Given the description of an element on the screen output the (x, y) to click on. 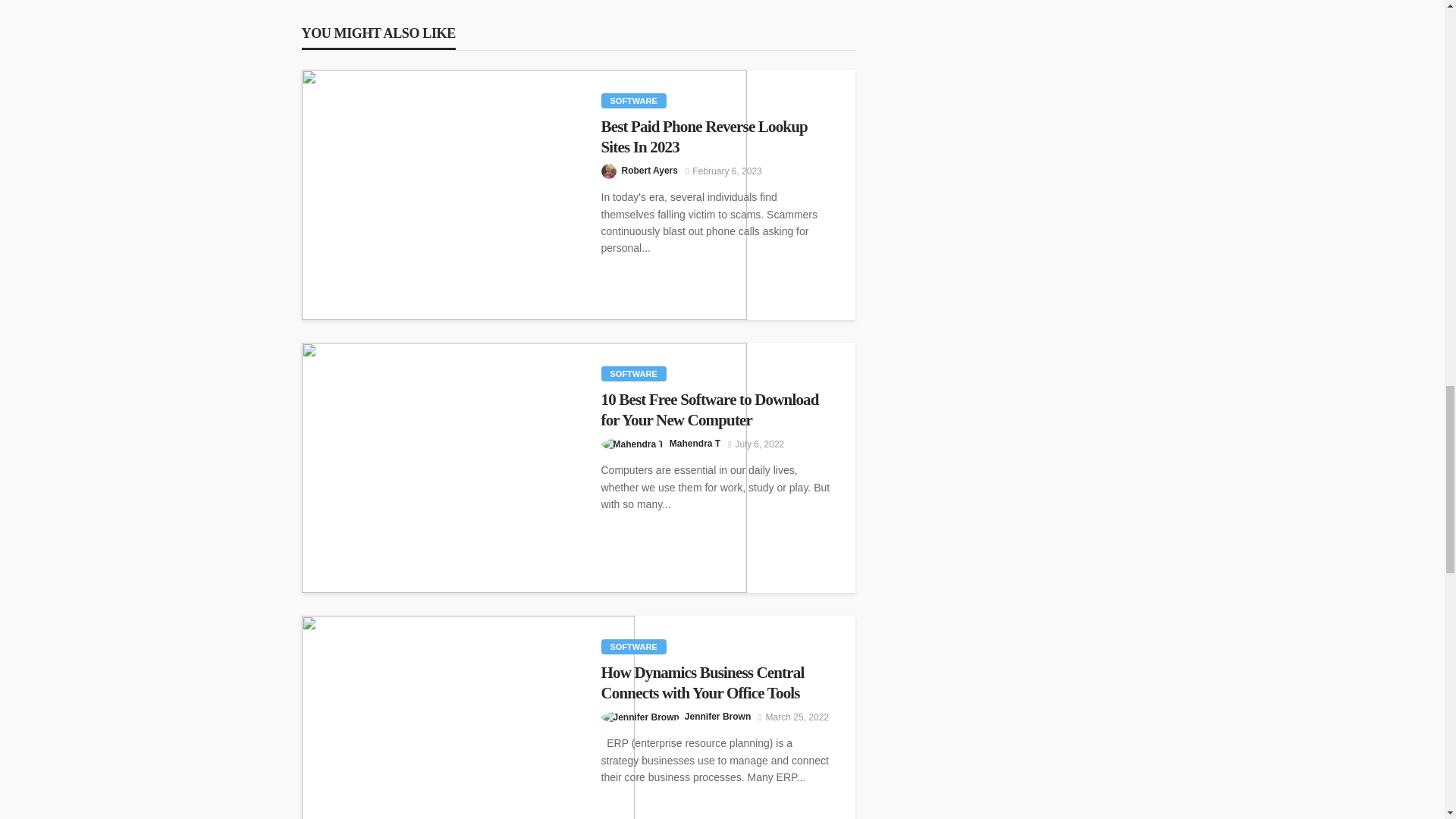
Best Paid Phone Reverse Lookup Sites In 2023 (524, 194)
Software (632, 100)
Software (632, 646)
Software (632, 373)
Best Paid Phone Reverse Lookup Sites In 2023 (715, 137)
Mahendra T (694, 443)
Best Paid Phone Reverse Lookup Sites In 2023 (715, 137)
SOFTWARE (632, 100)
Robert Ayers (649, 170)
10 Best Free Software to Download for Your New Computer (524, 467)
10 Best Free Software to Download for Your New Computer (715, 409)
SOFTWARE (632, 373)
SOFTWARE (632, 646)
